Given the description of an element on the screen output the (x, y) to click on. 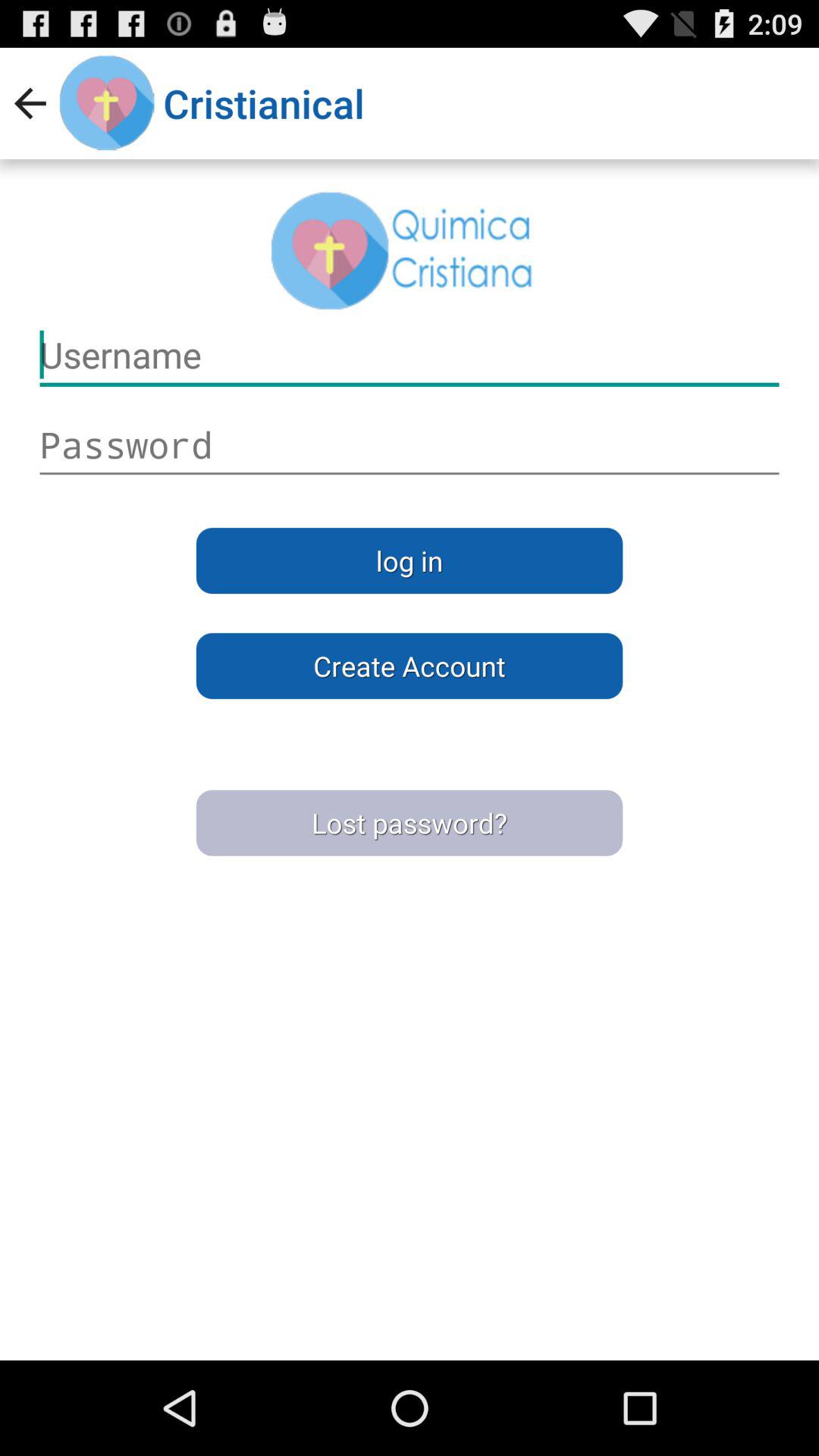
enter password (409, 445)
